Given the description of an element on the screen output the (x, y) to click on. 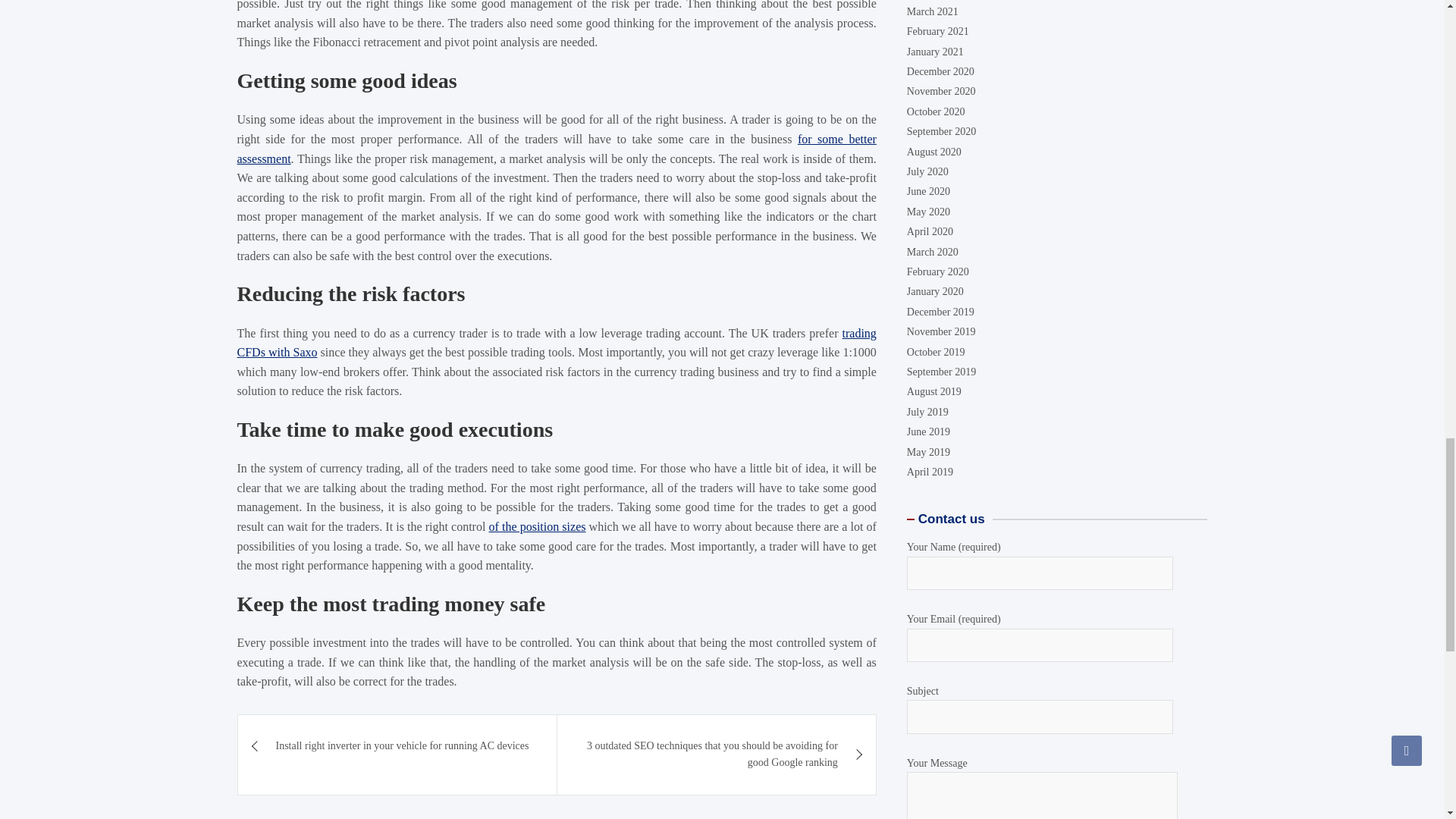
of the position sizes (537, 141)
